Given the description of an element on the screen output the (x, y) to click on. 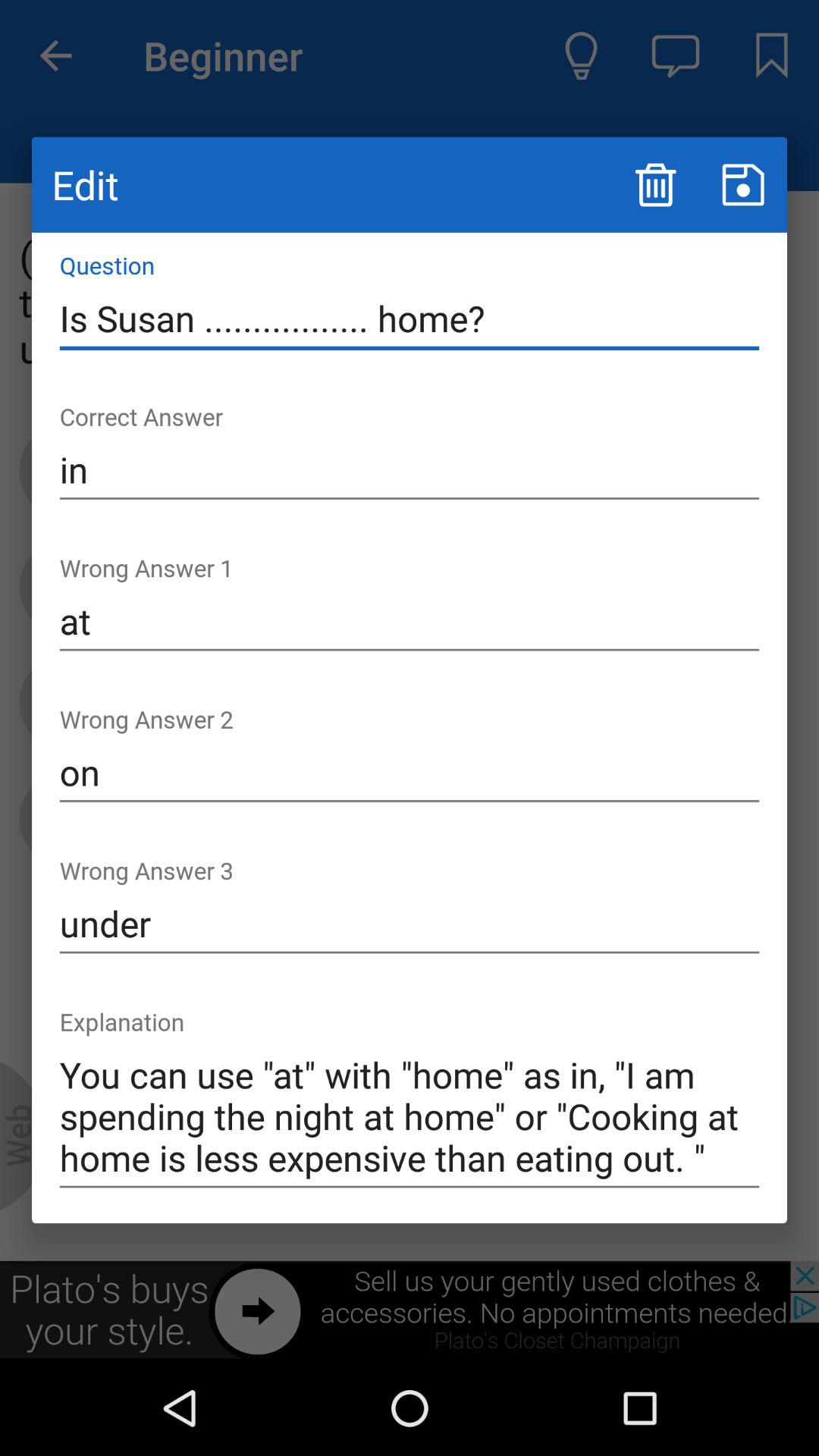
open the icon above the under icon (409, 772)
